Given the description of an element on the screen output the (x, y) to click on. 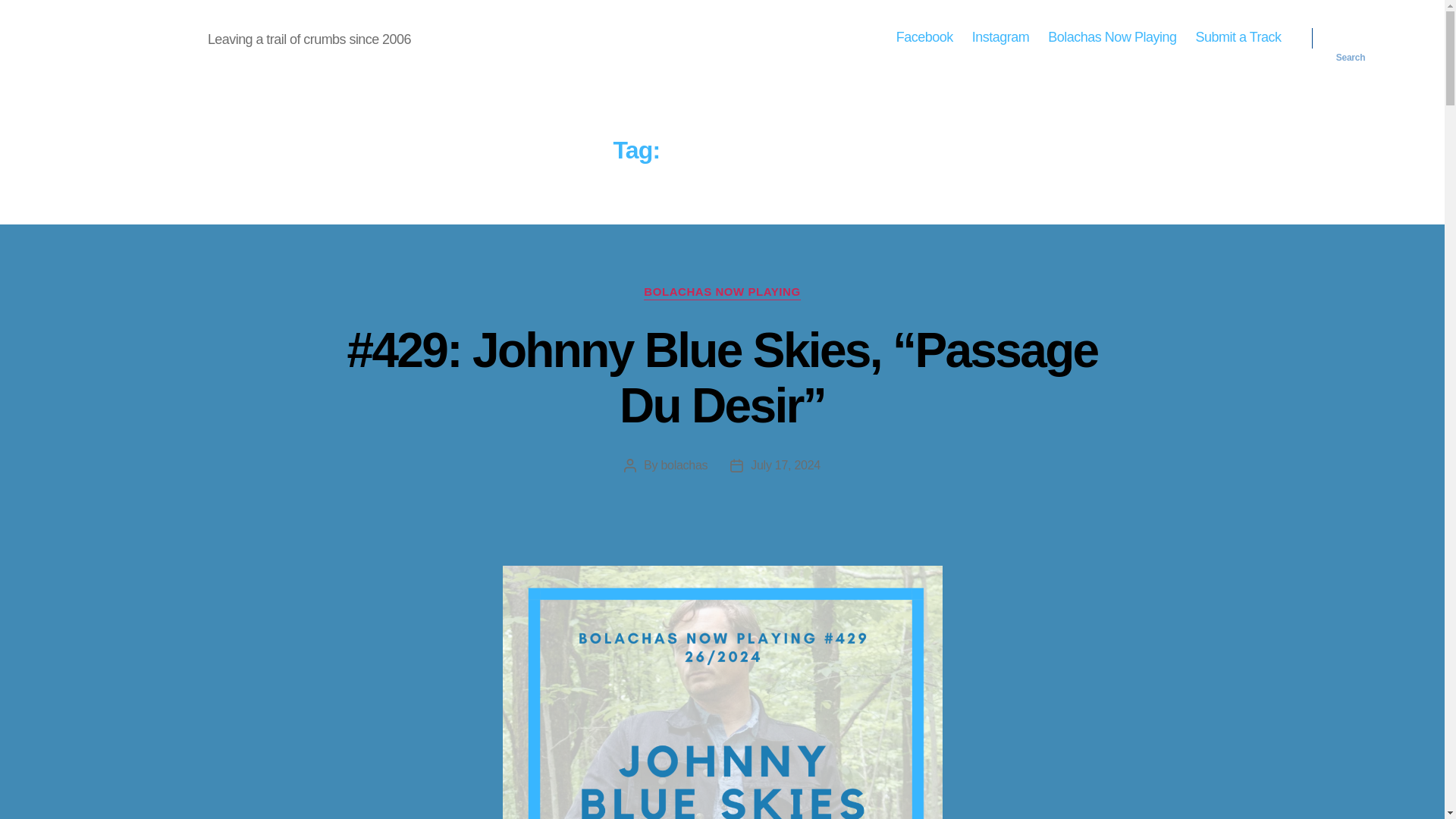
bolachas (684, 464)
BOLACHAS NOW PLAYING (721, 292)
bolachas.org (136, 37)
Bolachas Now Playing (1112, 37)
Facebook (924, 37)
Search (1350, 37)
Instagram (1000, 37)
Submit a Track (1238, 37)
July 17, 2024 (786, 464)
